Given the description of an element on the screen output the (x, y) to click on. 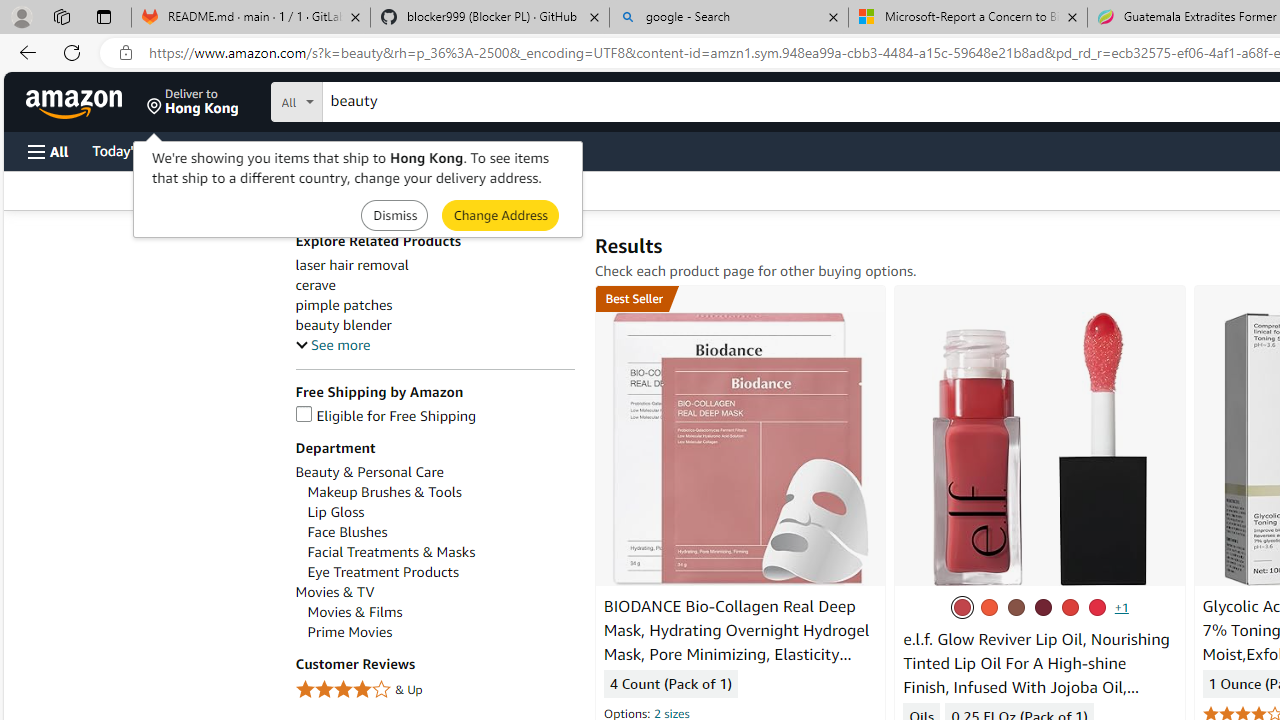
Makeup Brushes & Tools (384, 492)
Red Delicious (1096, 607)
Beauty & Personal Care (369, 471)
Today's Deals (134, 150)
Open Menu (48, 151)
